Given the description of an element on the screen output the (x, y) to click on. 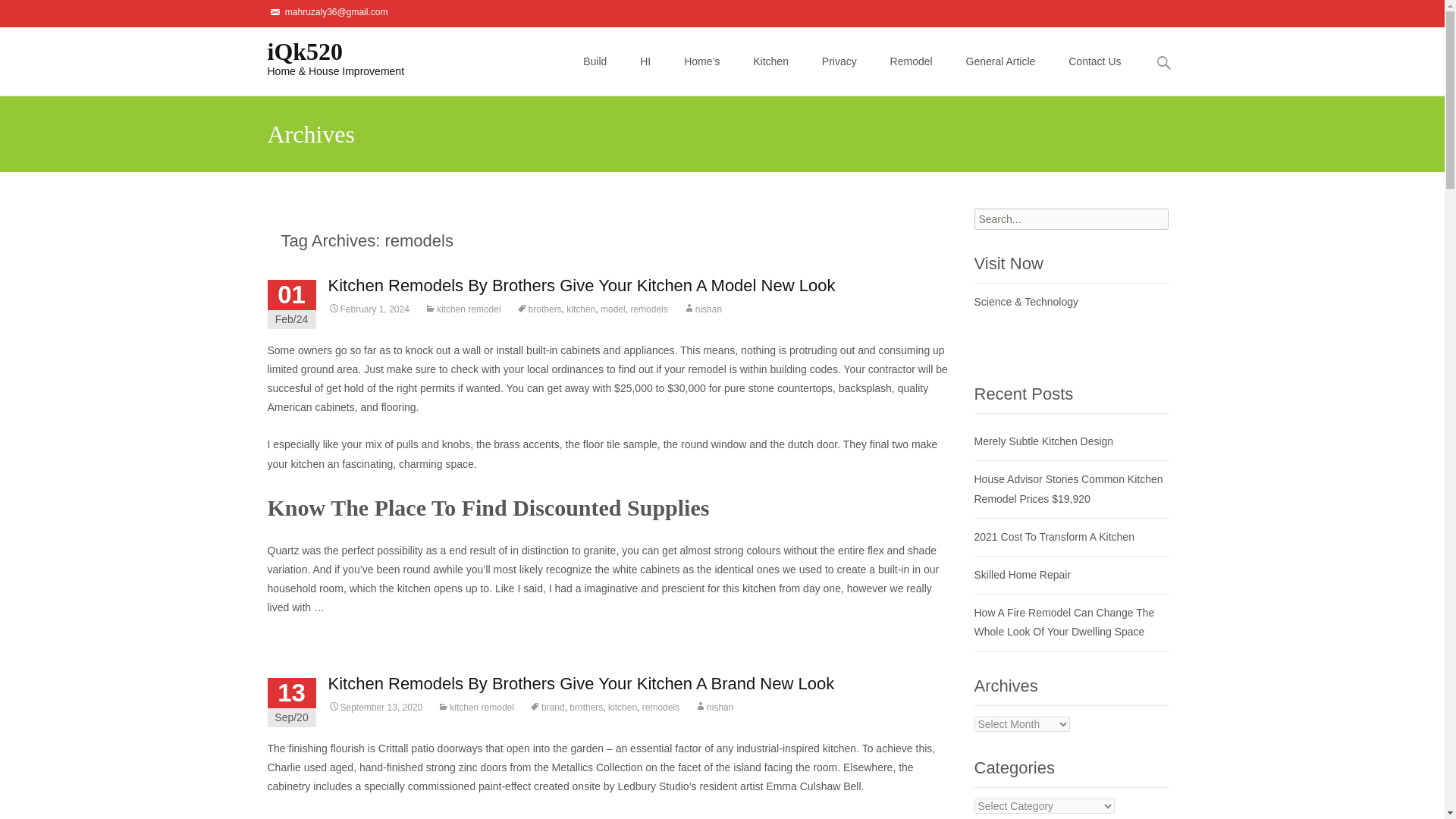
View all posts by nishan (702, 308)
Search for: (1070, 219)
iQk520 (323, 57)
remodels (648, 308)
February 1, 2024 (368, 308)
General Article (1000, 61)
Skip to content (603, 36)
Search for: (1163, 62)
kitchen remodel (462, 308)
model (612, 308)
